Given the description of an element on the screen output the (x, y) to click on. 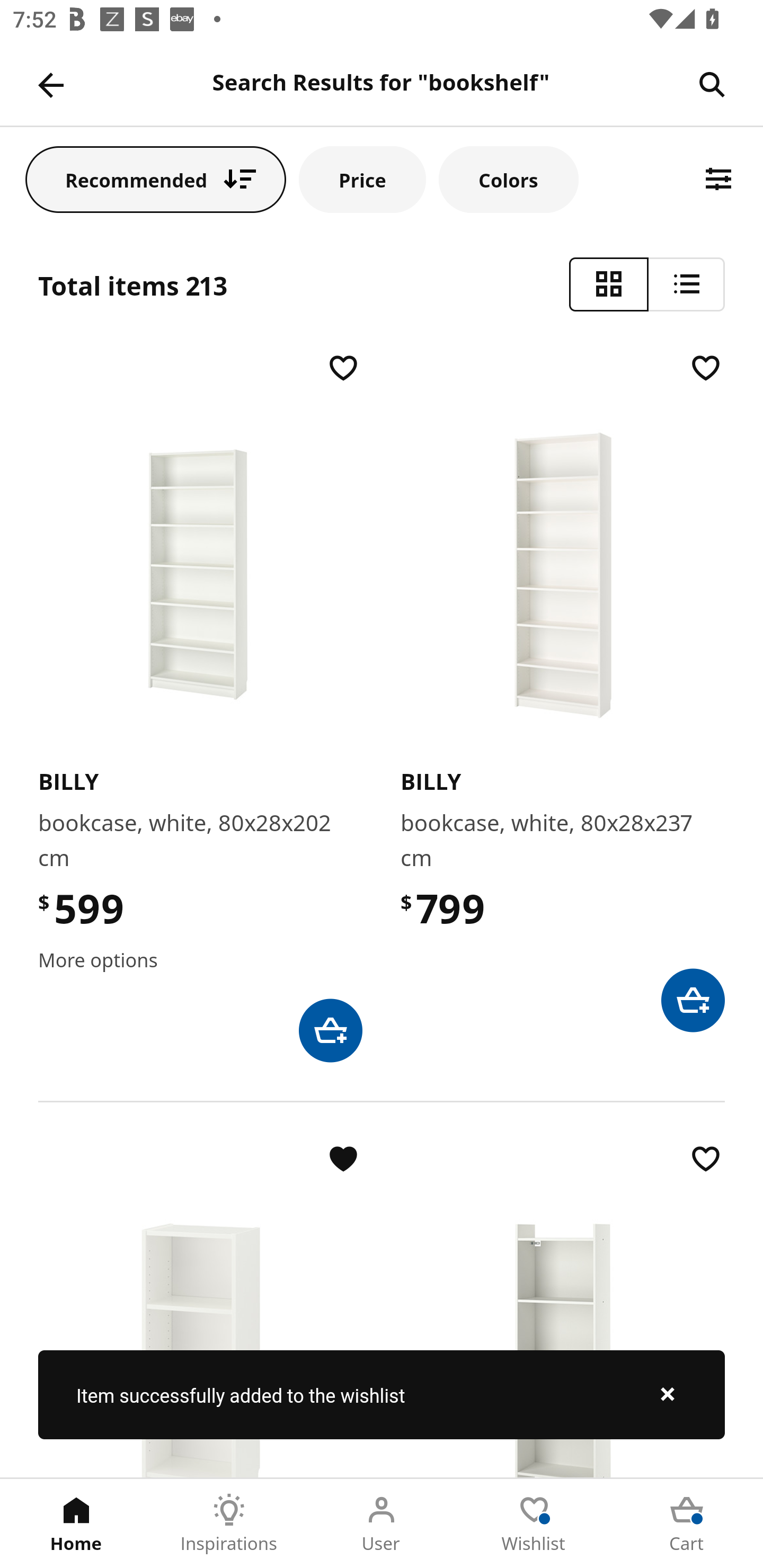
Recommended (155, 179)
Price (362, 179)
Colors (508, 179)
​B​I​L​L​Y​
bookcase, white, 80x28x237 cm
$
799 (562, 690)
​B​I​L​L​Y​
bookcase, white, 40x28x106 cm
$
279 (200, 1308)
Item successfully added to the wishlist (381, 1394)
Home
Tab 1 of 5 (76, 1522)
Inspirations
Tab 2 of 5 (228, 1522)
User
Tab 3 of 5 (381, 1522)
Wishlist
Tab 4 of 5 (533, 1522)
Cart
Tab 5 of 5 (686, 1522)
